Given the description of an element on the screen output the (x, y) to click on. 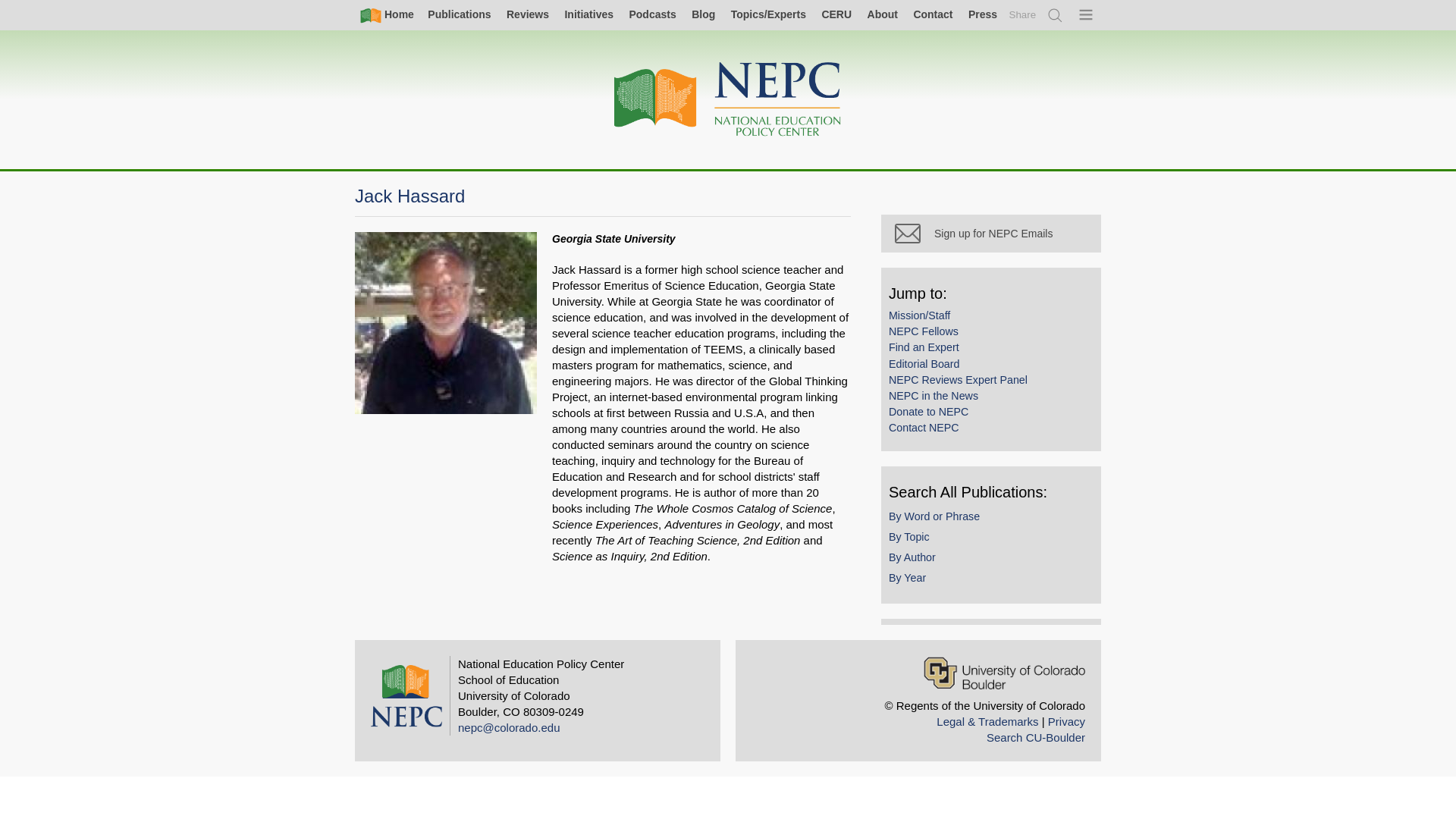
All NEPC Reviews (527, 13)
Open menu (1087, 14)
Search (1055, 14)
Menu (1087, 14)
All Podcast Episodes (651, 13)
Reviews (527, 13)
All Archived NEPC Publications (459, 13)
Home (386, 14)
Blog (703, 13)
